Given the description of an element on the screen output the (x, y) to click on. 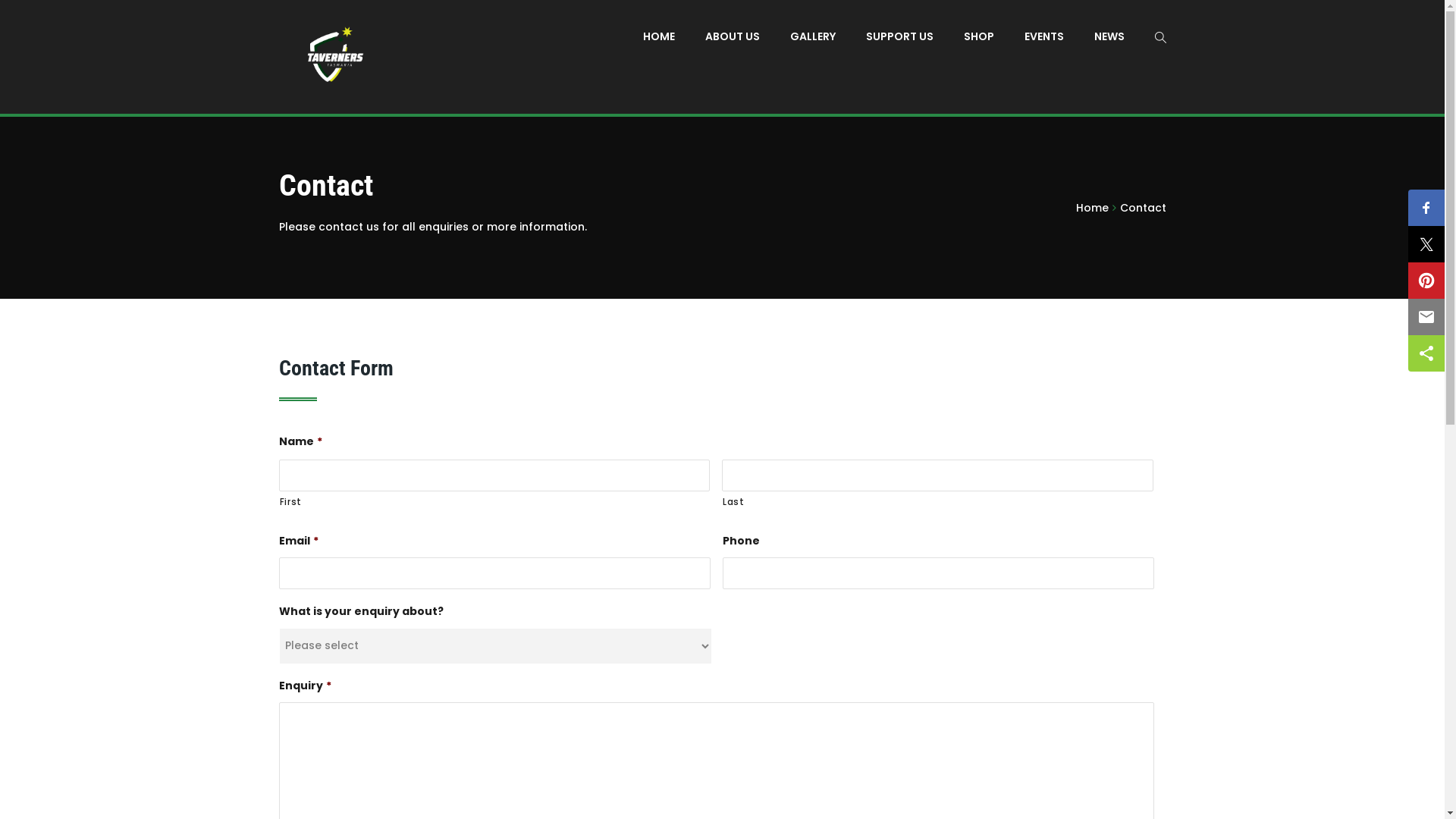
NEWS Element type: text (1108, 36)
ABOUT US Element type: text (732, 36)
EVENTS Element type: text (1043, 36)
SHOP Element type: text (978, 36)
SUPPORT US Element type: text (899, 36)
HOME Element type: text (658, 36)
GALLERY Element type: text (812, 36)
Home Element type: text (1091, 207)
